Given the description of an element on the screen output the (x, y) to click on. 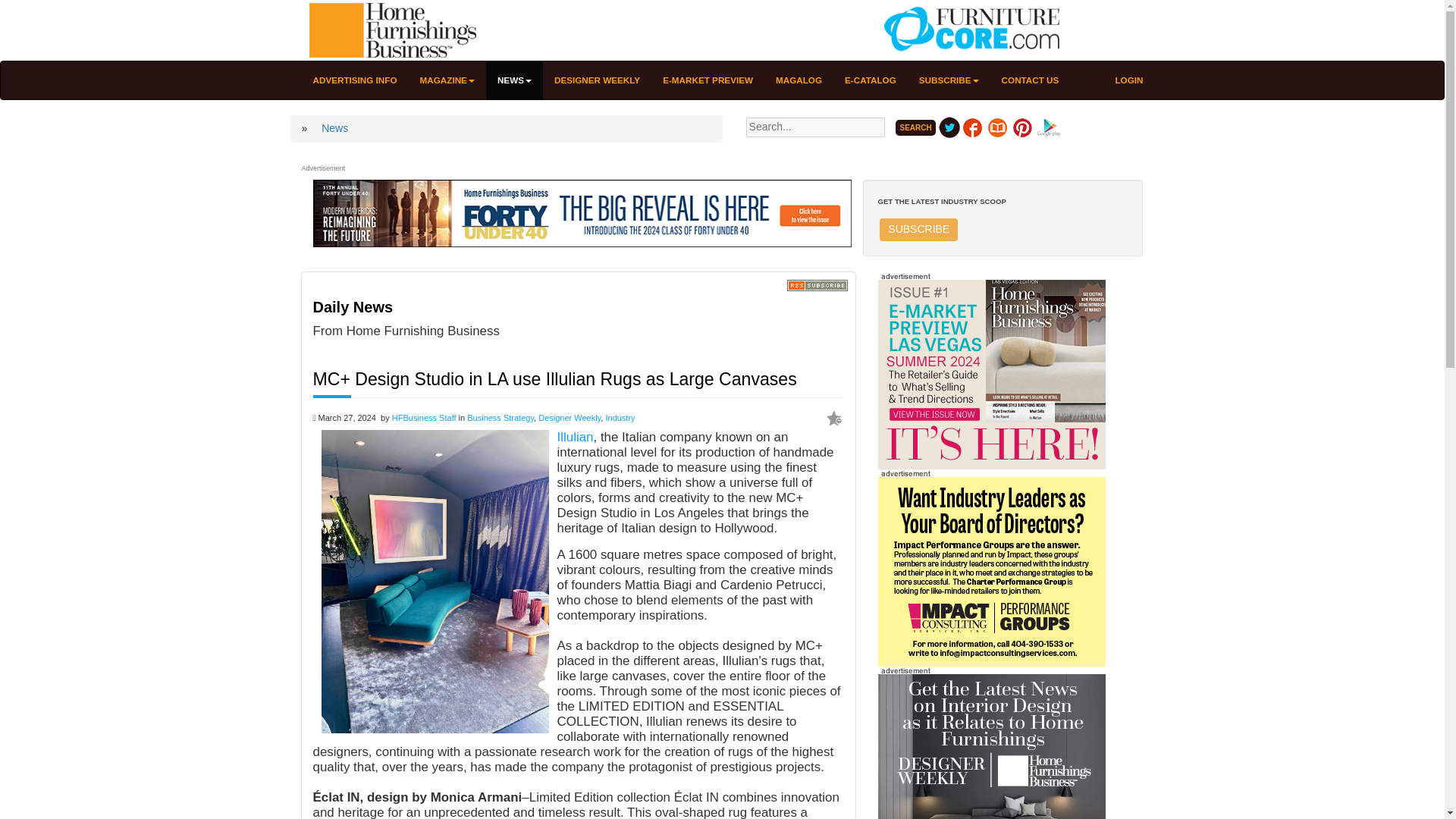
SUBSCRIBE (918, 229)
EMP (991, 373)
News (334, 128)
LOGIN (1128, 80)
MAGAZINE (447, 80)
SUBSCRIBE (948, 80)
HFB Designer Weekly (991, 746)
HFBusiness Staff (424, 417)
Performance Groups (991, 571)
NEWS (514, 80)
CONTACT US (1030, 80)
E-CATALOG (869, 80)
Clear search text (882, 148)
Login (1128, 80)
FurnitureCore (968, 29)
